Given the description of an element on the screen output the (x, y) to click on. 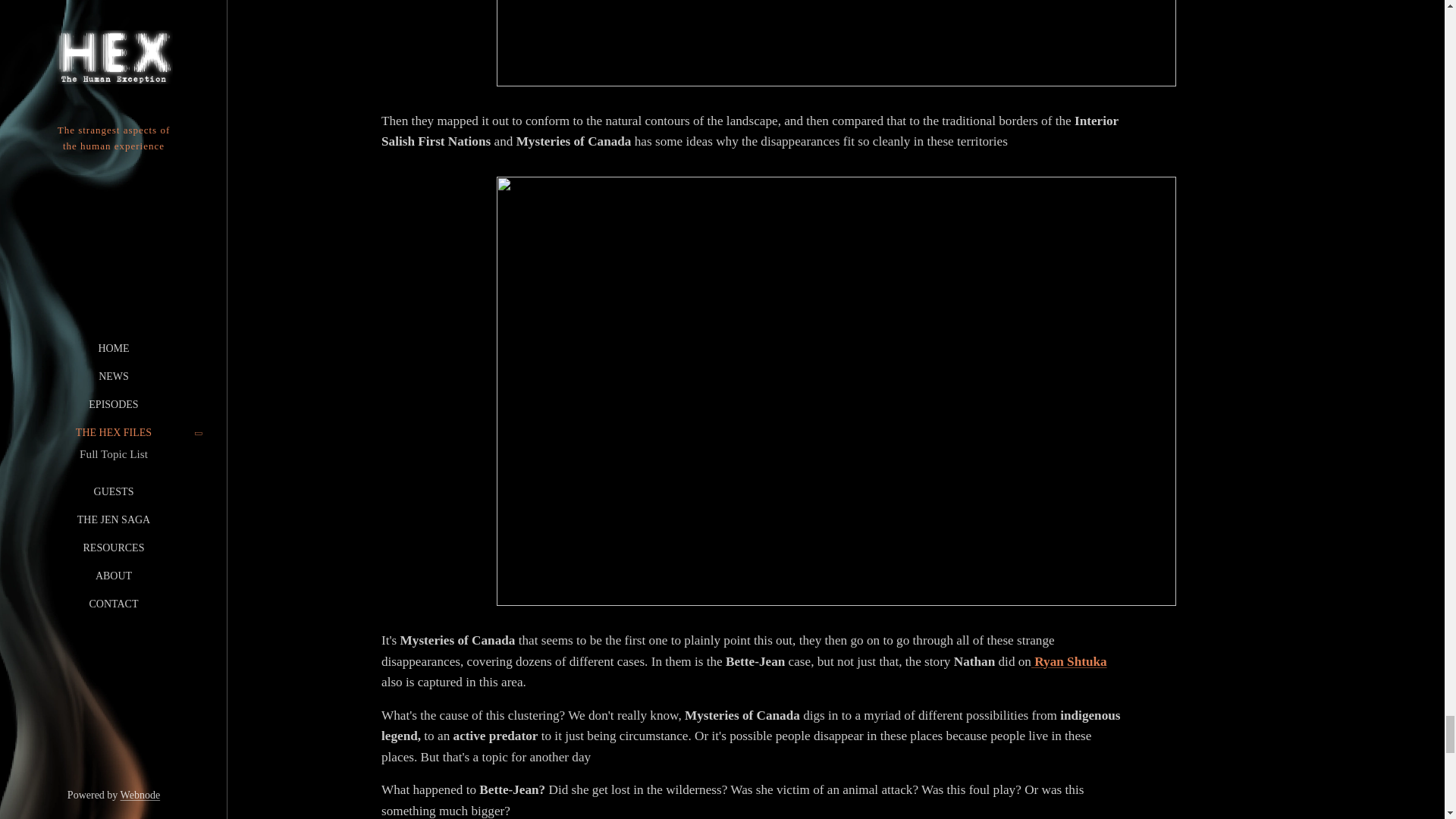
Ryan Shtuka (1069, 661)
